Given the description of an element on the screen output the (x, y) to click on. 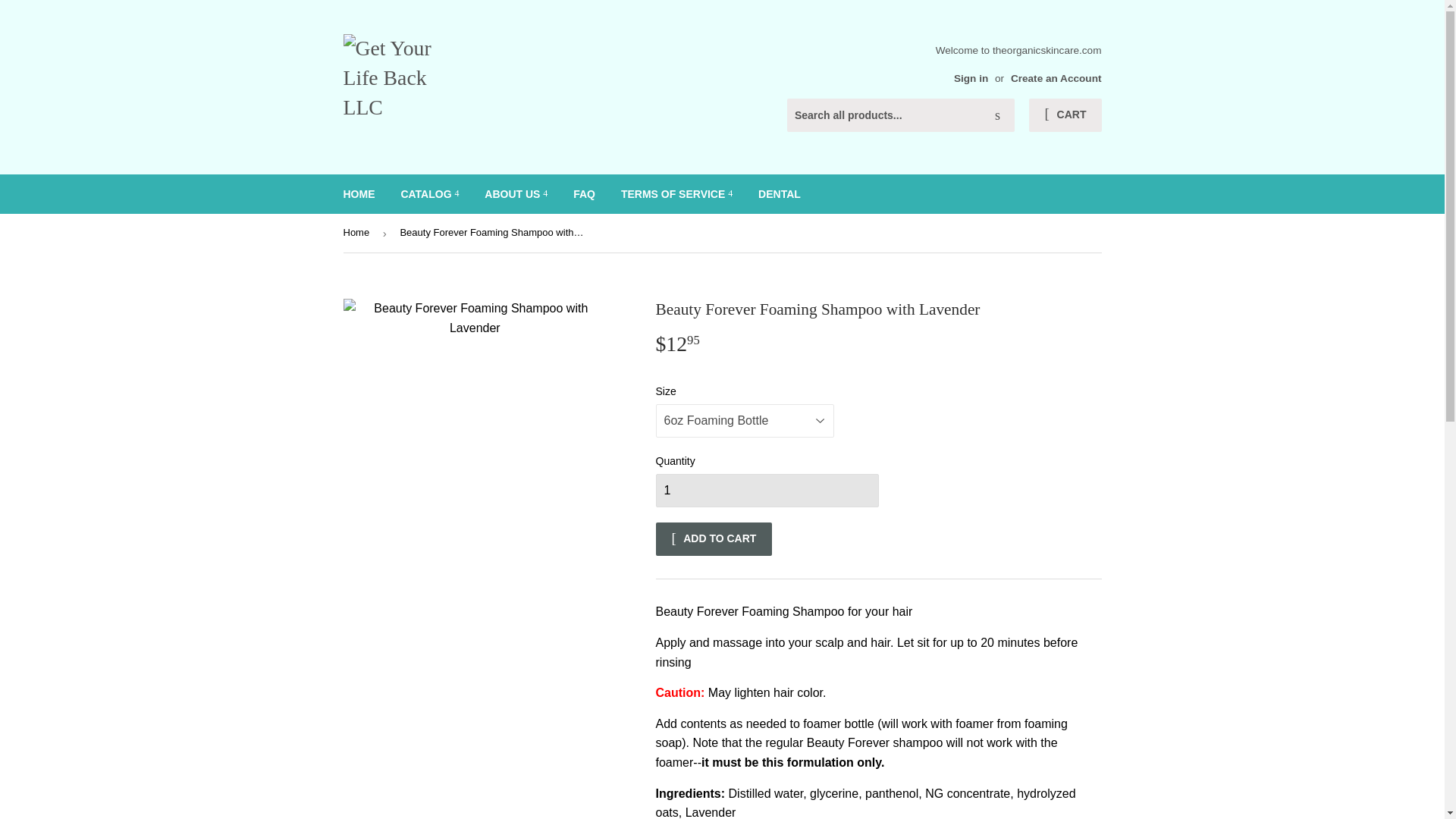
Create an Account (1056, 78)
Sign in (970, 78)
CART (1064, 114)
1 (766, 490)
Search (996, 115)
